Given the description of an element on the screen output the (x, y) to click on. 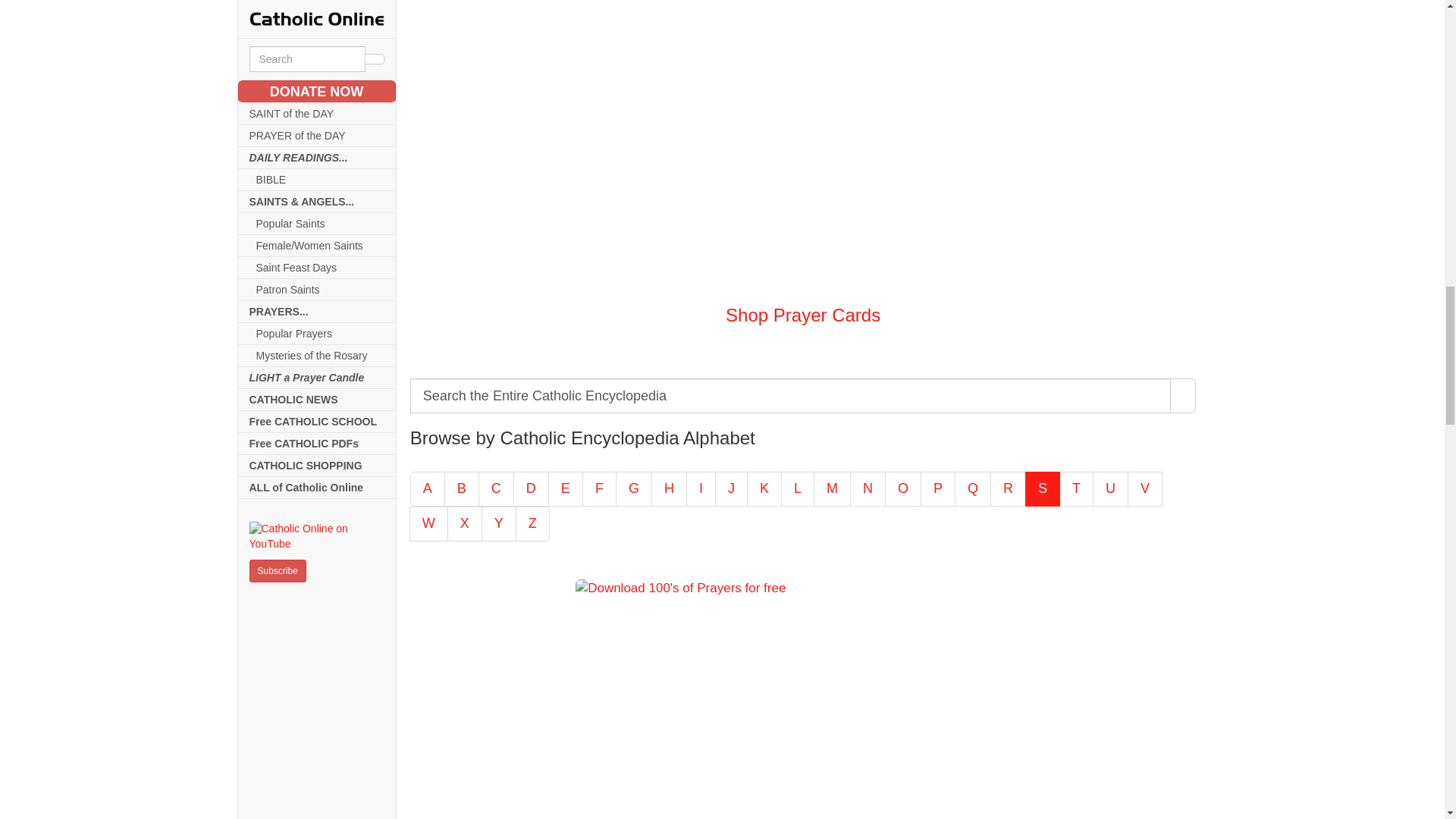
Download 100's of Prayers for free (802, 699)
Search the Entire Catholic Encyclopedia (791, 395)
Shop Prayer Cards (802, 145)
